Given the description of an element on the screen output the (x, y) to click on. 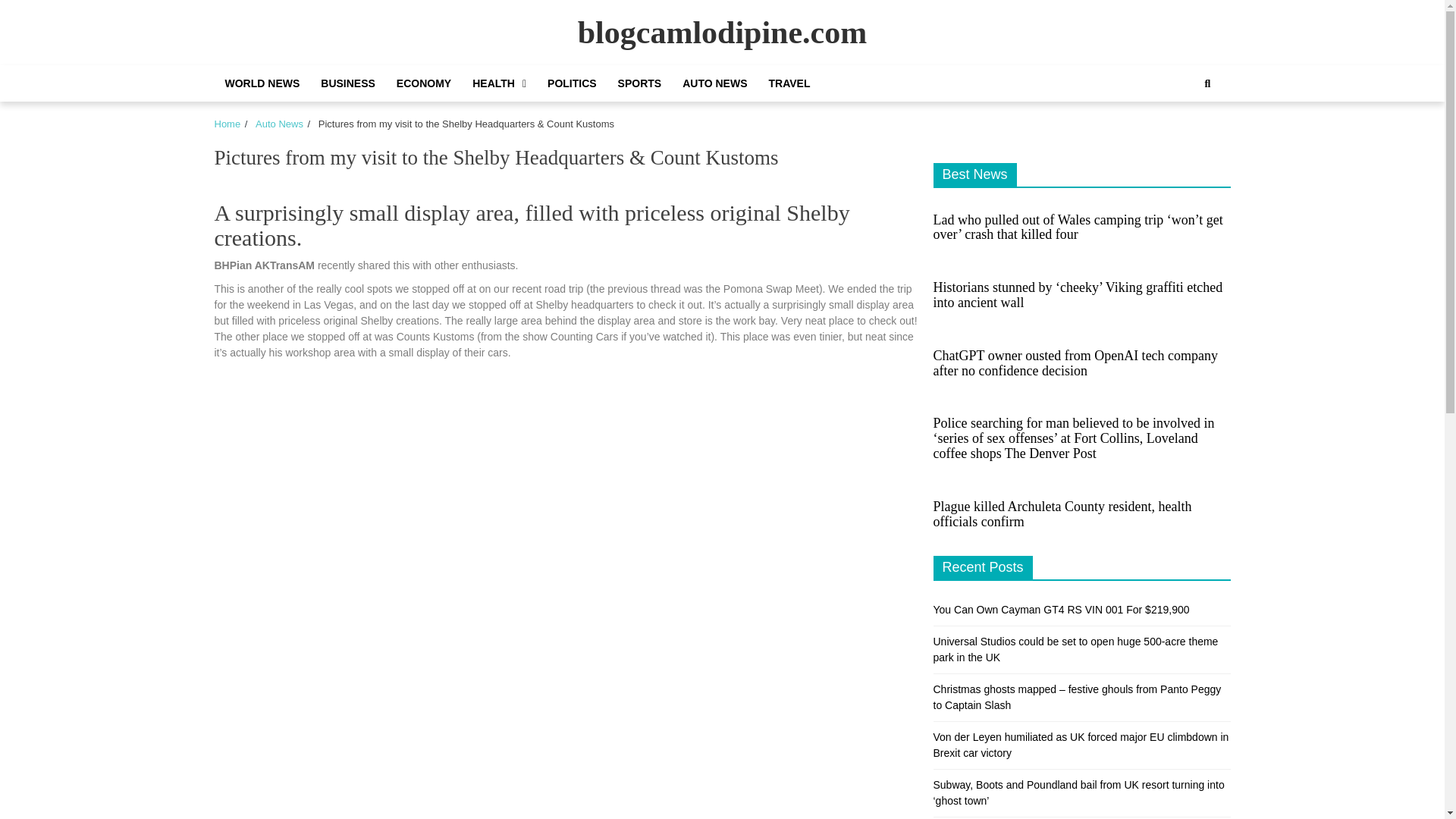
Home (227, 123)
Auto News (279, 123)
HEALTH (499, 83)
BUSINESS (347, 83)
SPORTS (639, 83)
AUTO NEWS (714, 83)
Search (1207, 83)
blogcamlodipine.com (722, 32)
